Given the description of an element on the screen output the (x, y) to click on. 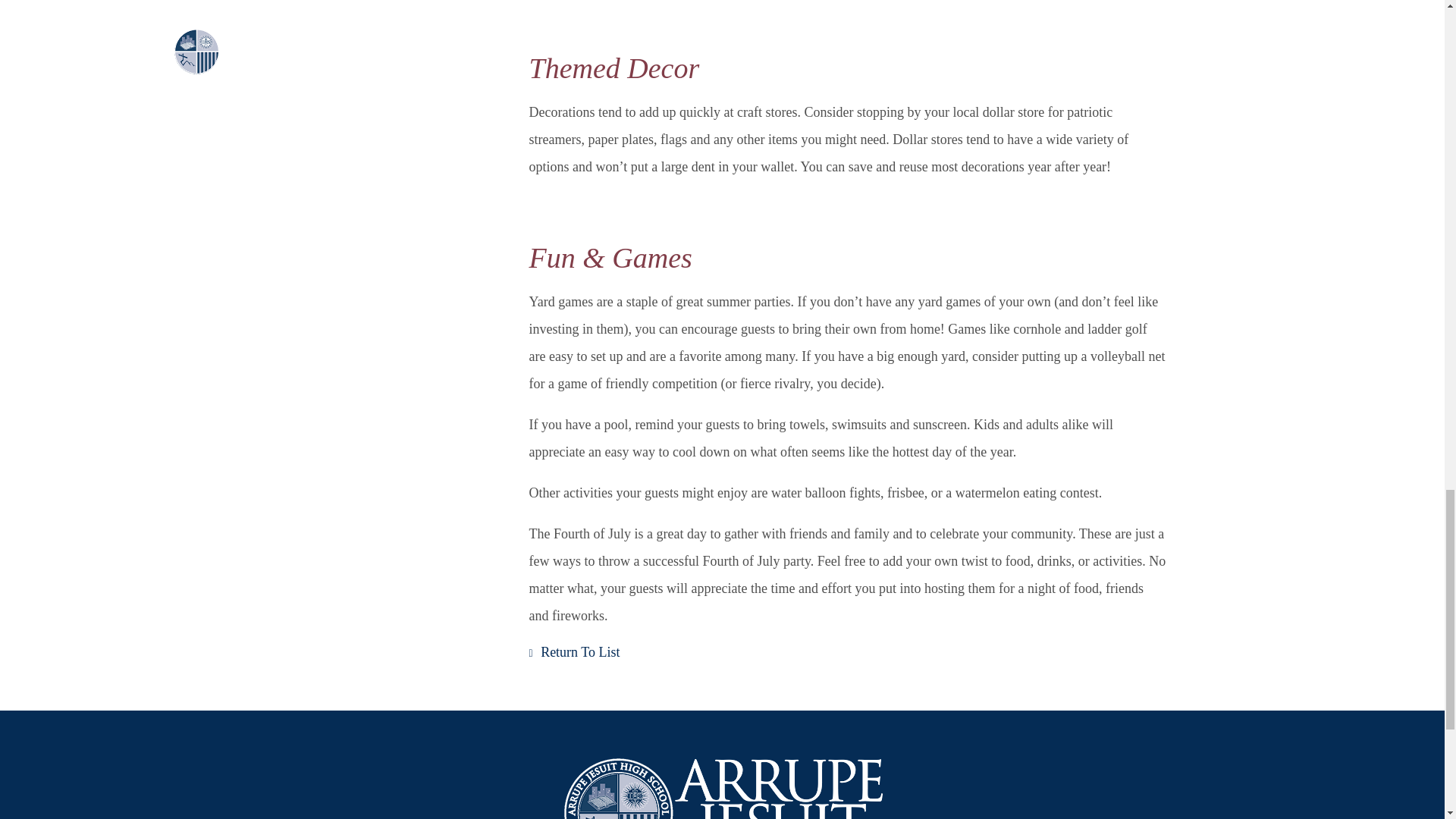
logo (722, 787)
